Given the description of an element on the screen output the (x, y) to click on. 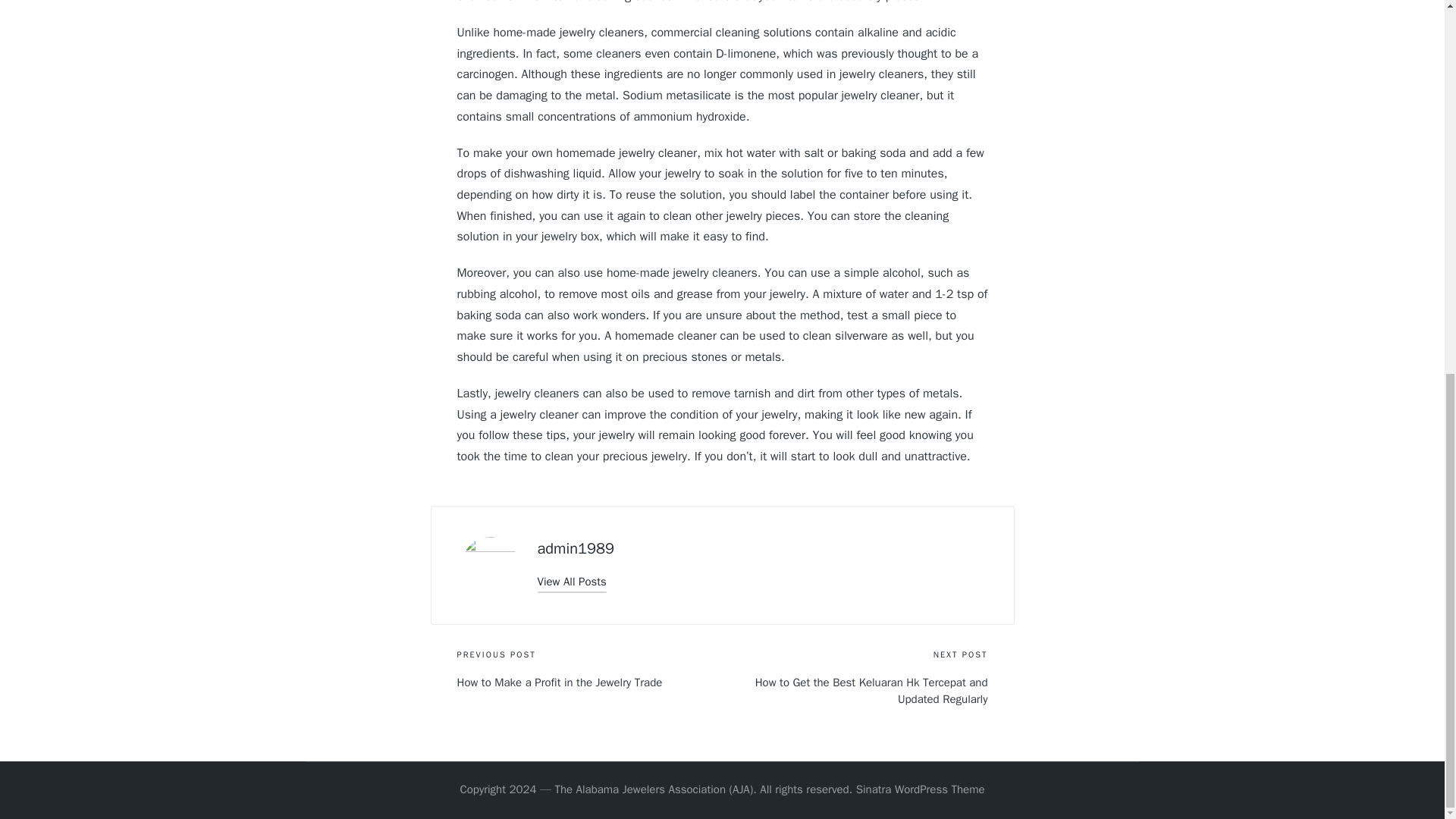
View All Posts (571, 581)
admin1989 (574, 547)
Sinatra WordPress Theme (920, 790)
How to Make a Profit in the Jewelry Trade (589, 682)
